Given the description of an element on the screen output the (x, y) to click on. 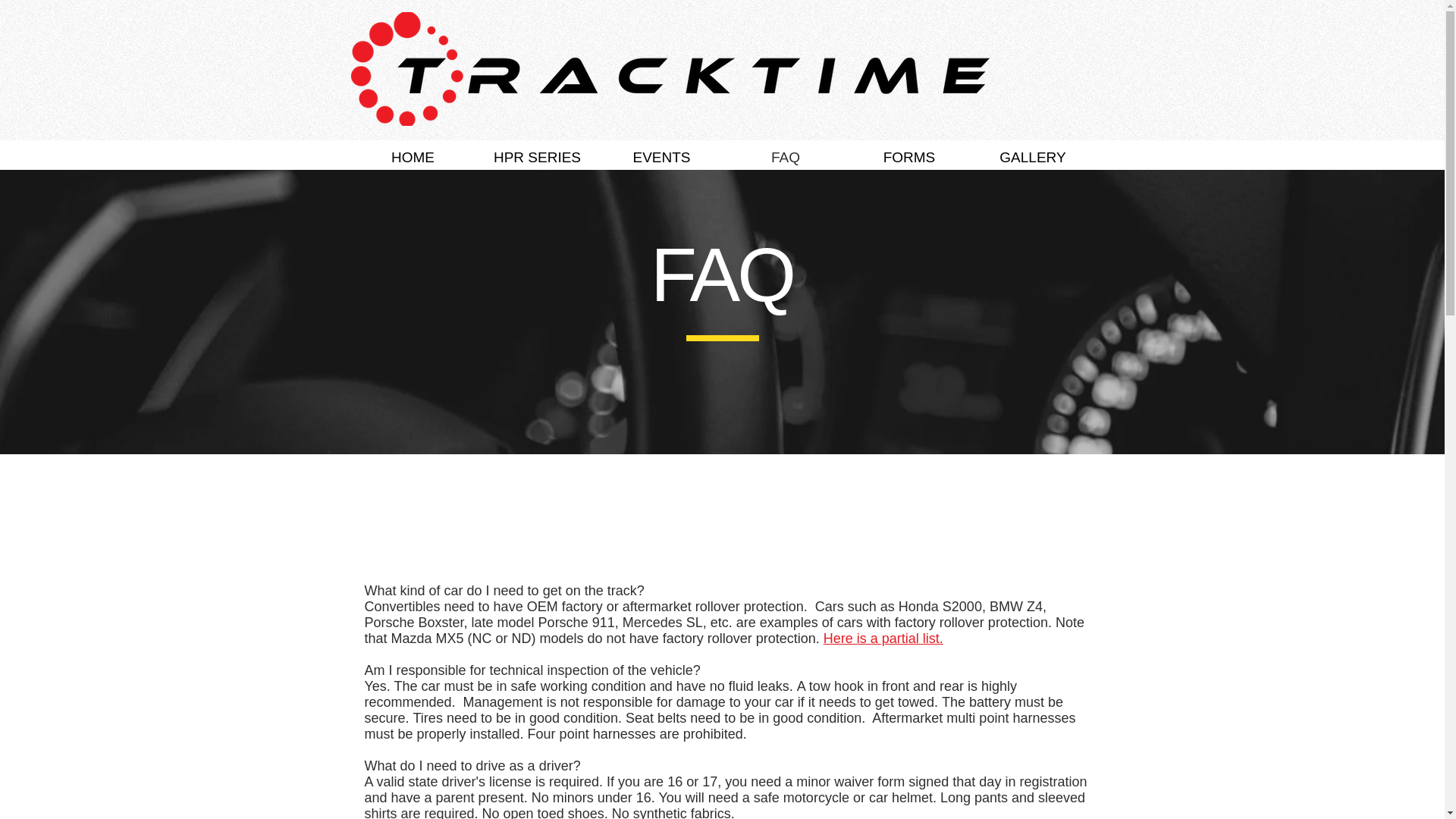
Here is a partial list. (883, 638)
EVENTS (660, 154)
GALLERY (1032, 154)
FORMS (909, 154)
FAQ (785, 154)
HPR SERIES (536, 154)
HOME (412, 154)
